Given the description of an element on the screen output the (x, y) to click on. 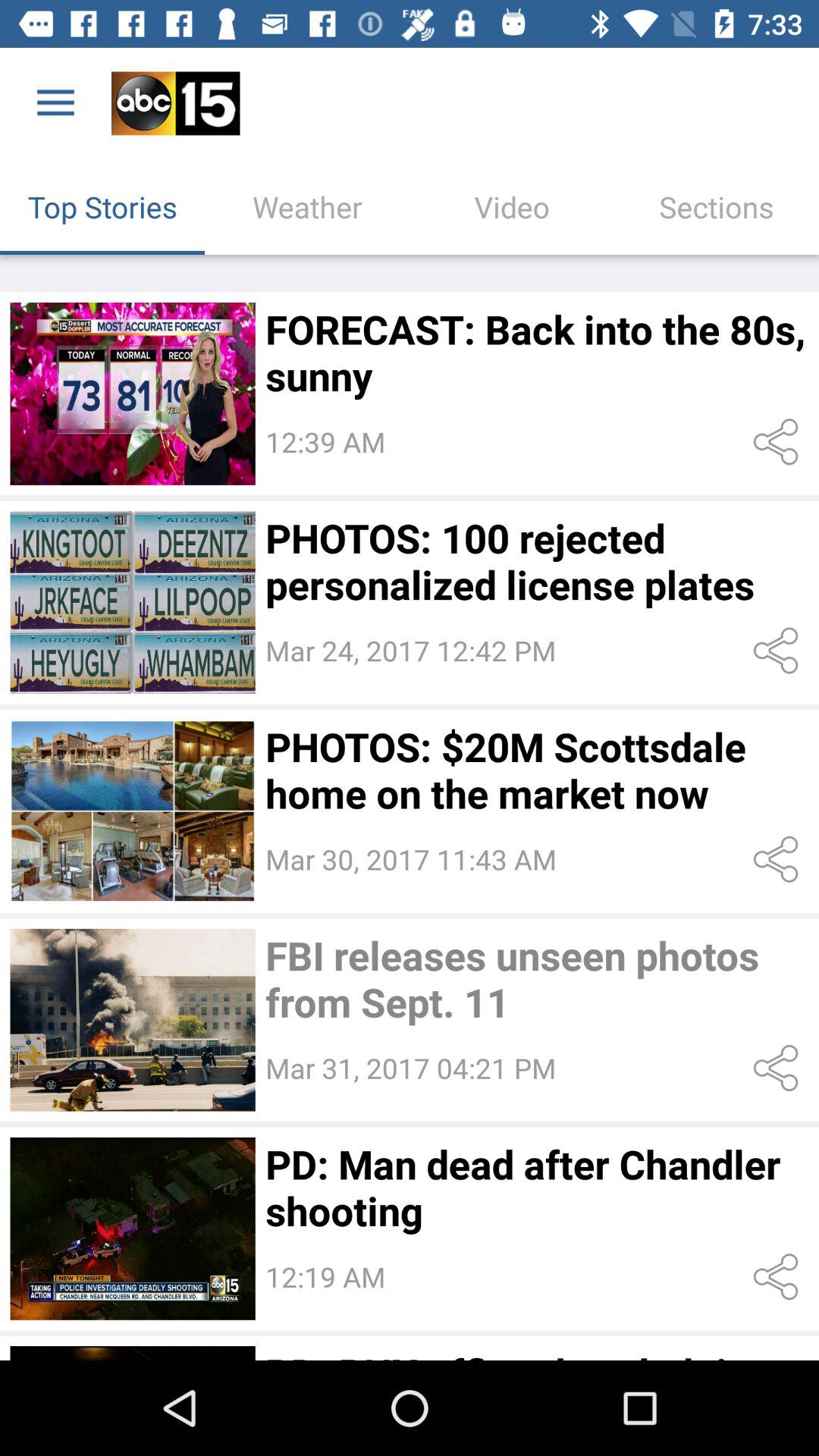
more info (132, 811)
